Given the description of an element on the screen output the (x, y) to click on. 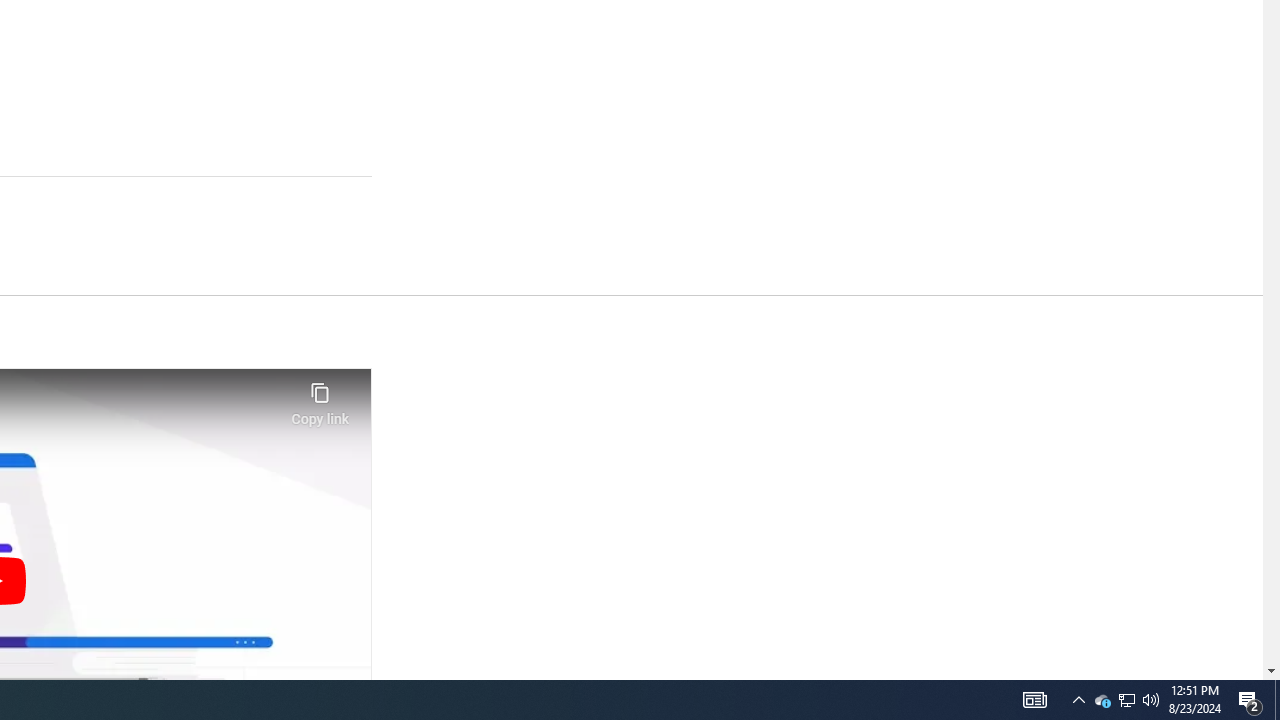
Copy link (319, 398)
